Given the description of an element on the screen output the (x, y) to click on. 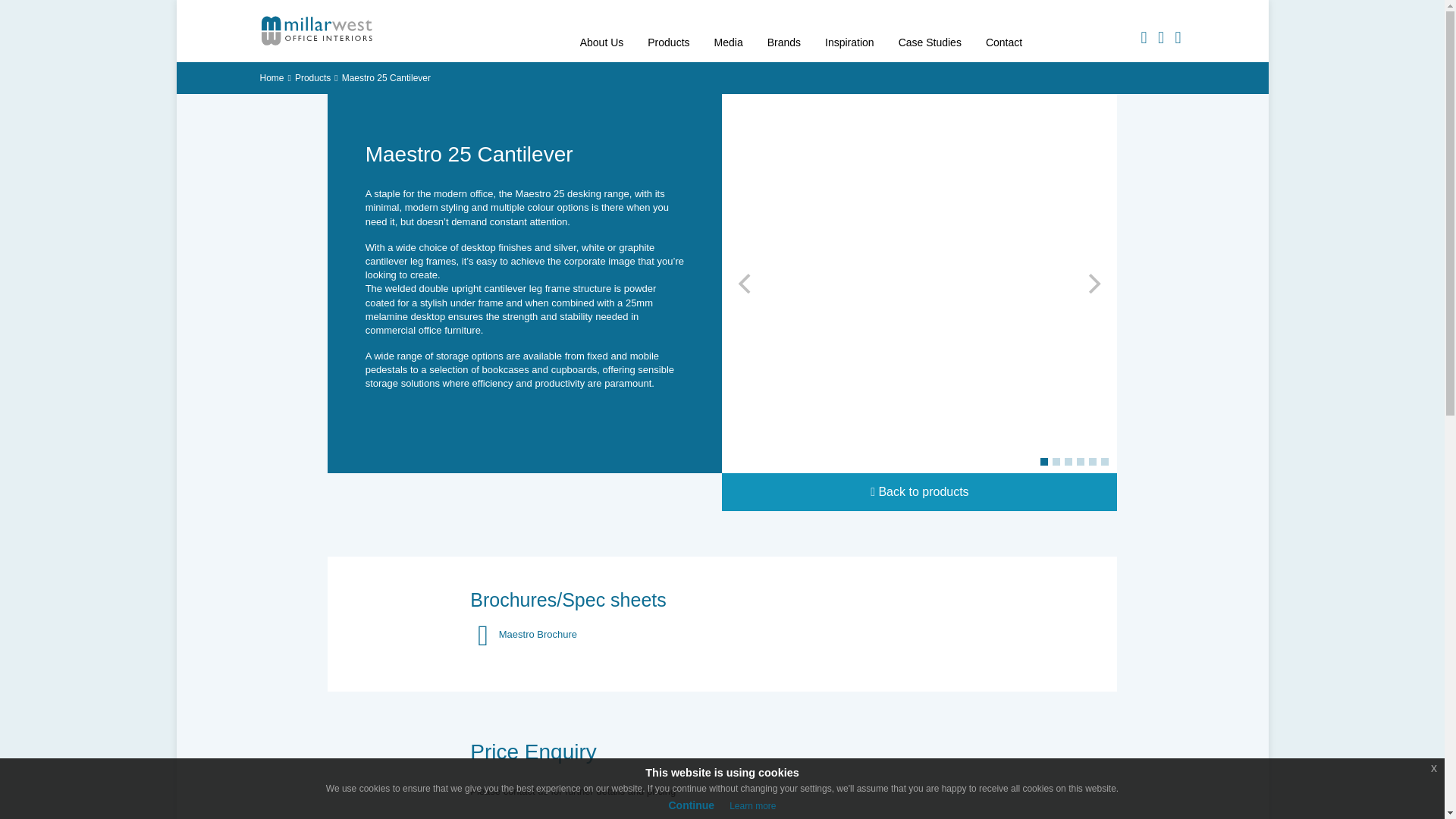
Products (667, 31)
About Us (601, 31)
Home (271, 77)
